Given the description of an element on the screen output the (x, y) to click on. 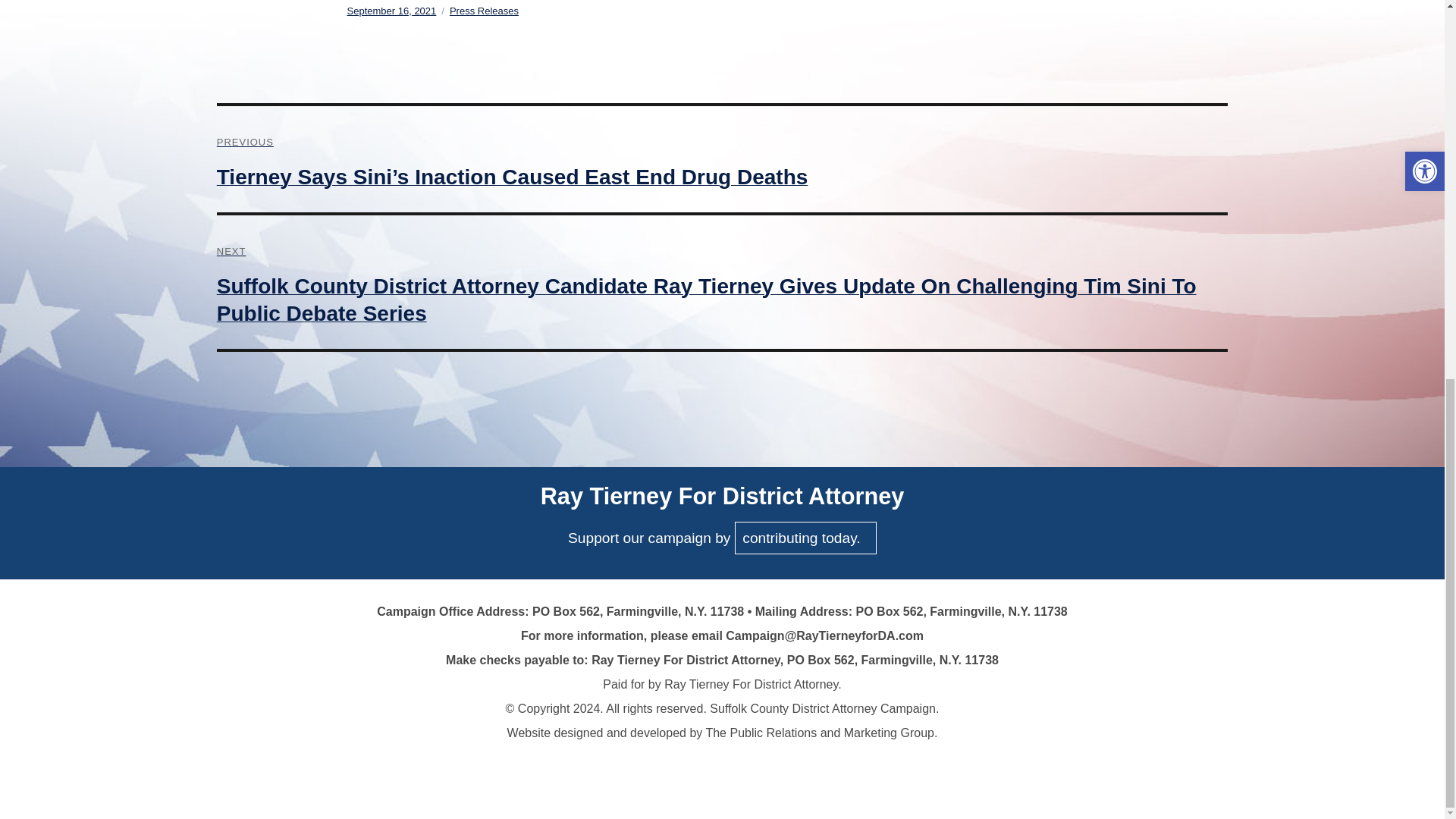
Press Releases (483, 10)
contributing today.   (805, 537)
September 16, 2021 (391, 10)
